Given the description of an element on the screen output the (x, y) to click on. 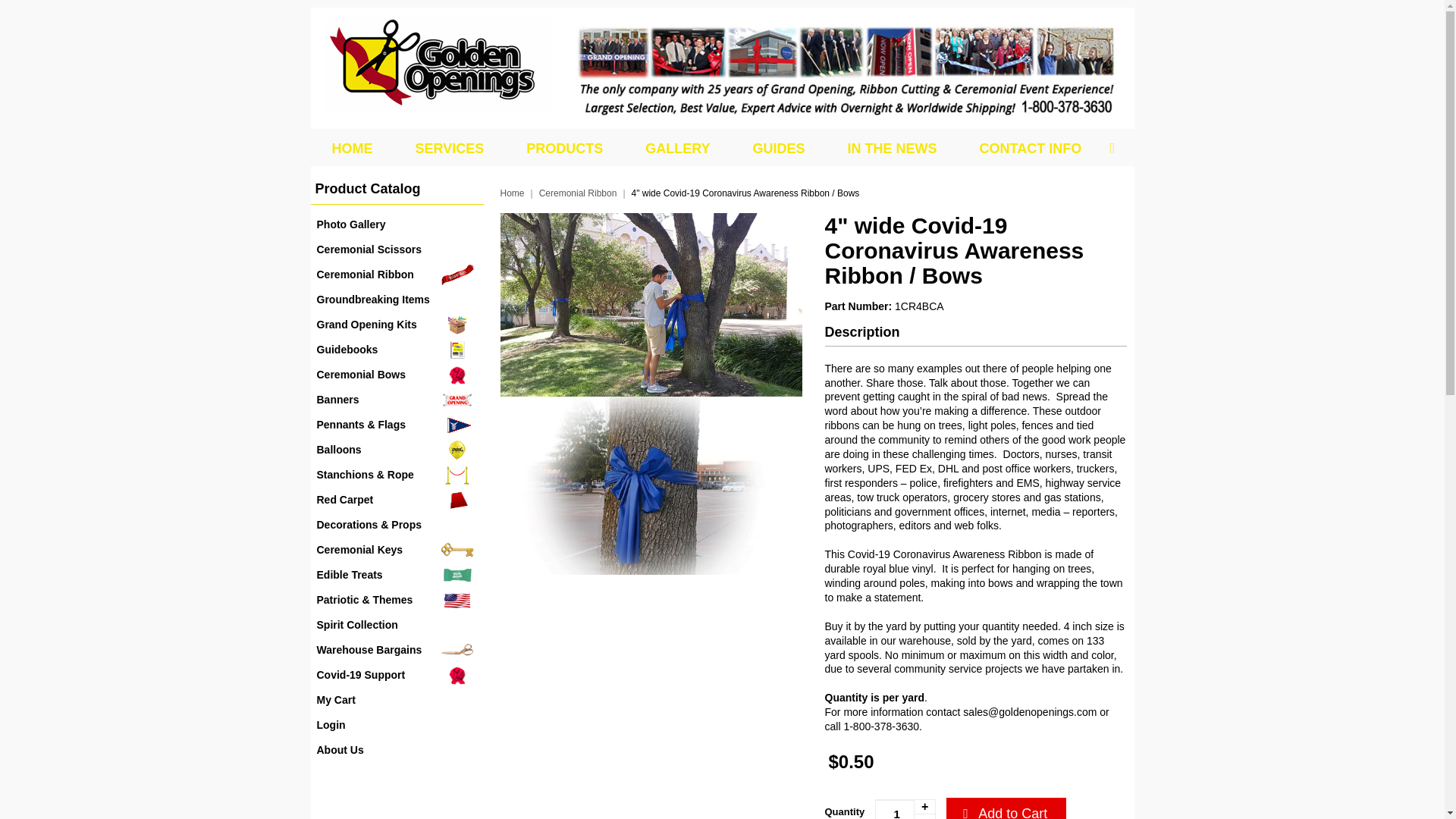
Ceremonial Scissors (397, 249)
Photo Gallery (397, 224)
GALLERY (677, 148)
SERVICES (449, 148)
HOME (351, 148)
1 (905, 809)
Ceremonial Ribbon (397, 274)
IN THE NEWS (892, 148)
PRODUCTS (563, 148)
GUIDES (778, 148)
